Given the description of an element on the screen output the (x, y) to click on. 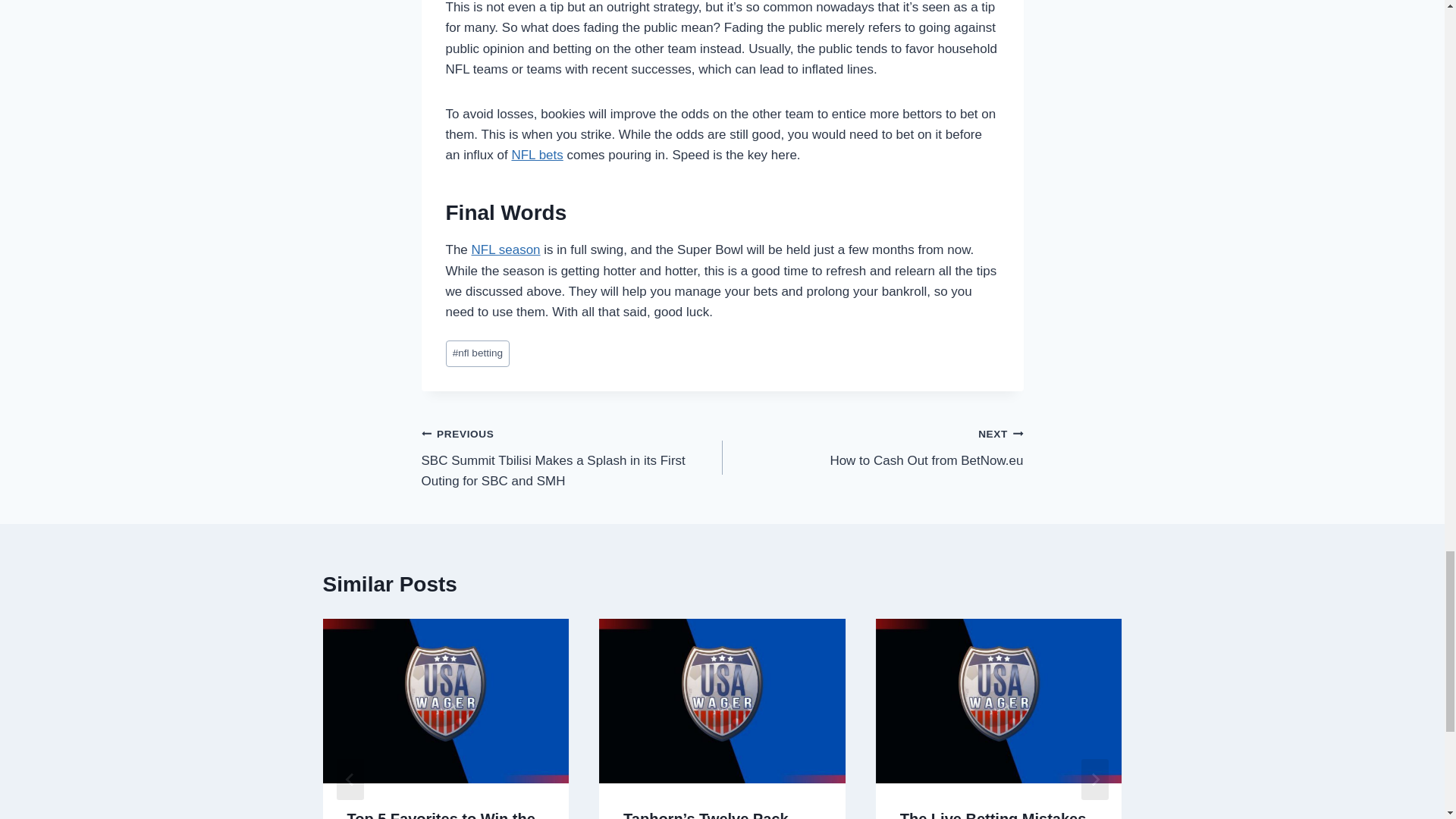
Top 5 Favorites to Win the AFC in 2022 3 (445, 700)
NFL season (872, 446)
nfl betting (505, 249)
The Live Betting Mistakes You Should Avoid 5 (478, 353)
Taphorn's Twelve Pack NFL Week 16 4 (999, 700)
NFL bets (721, 700)
